Given the description of an element on the screen output the (x, y) to click on. 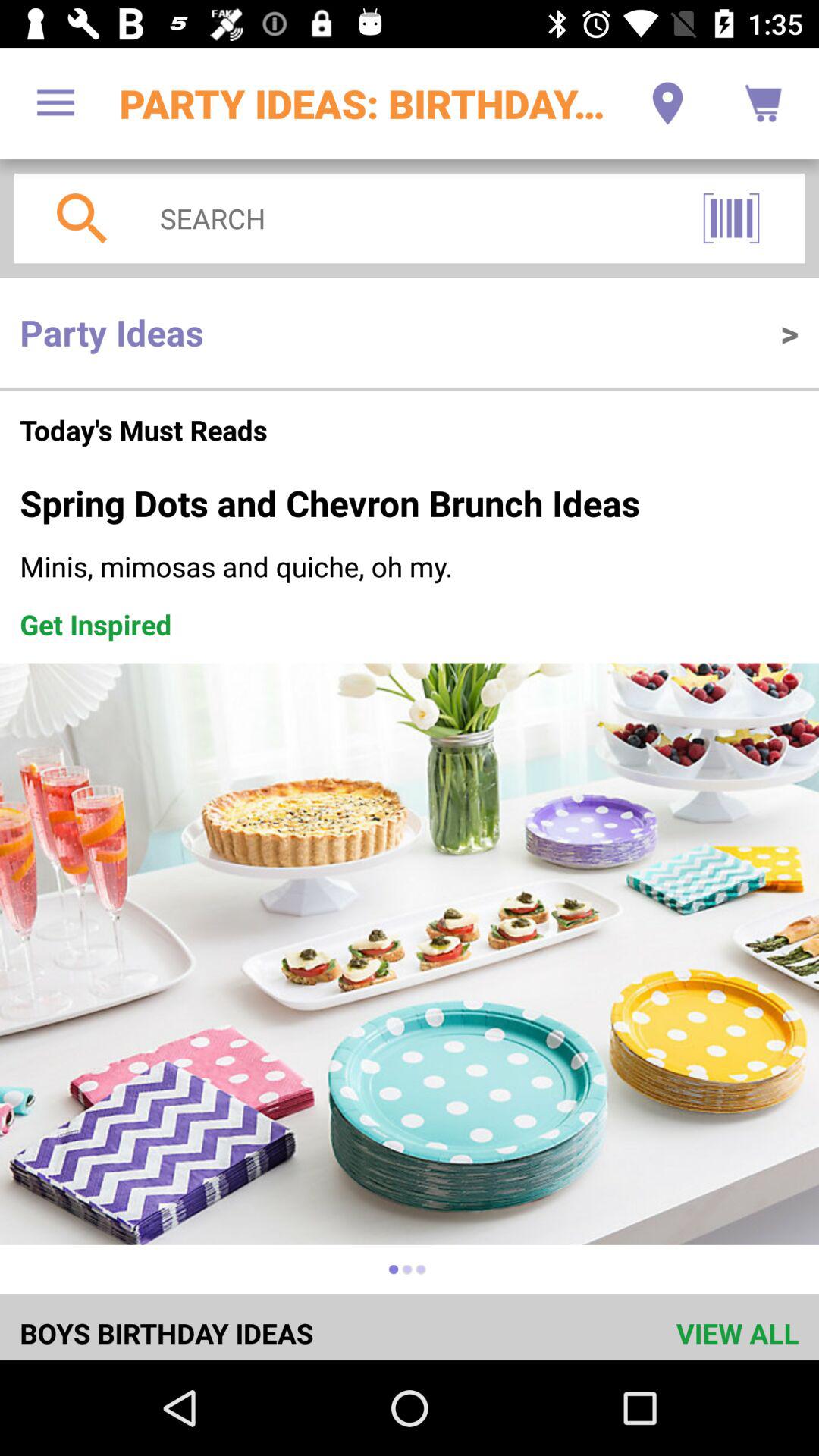
open the app next to the party ideas birthday app (55, 103)
